Given the description of an element on the screen output the (x, y) to click on. 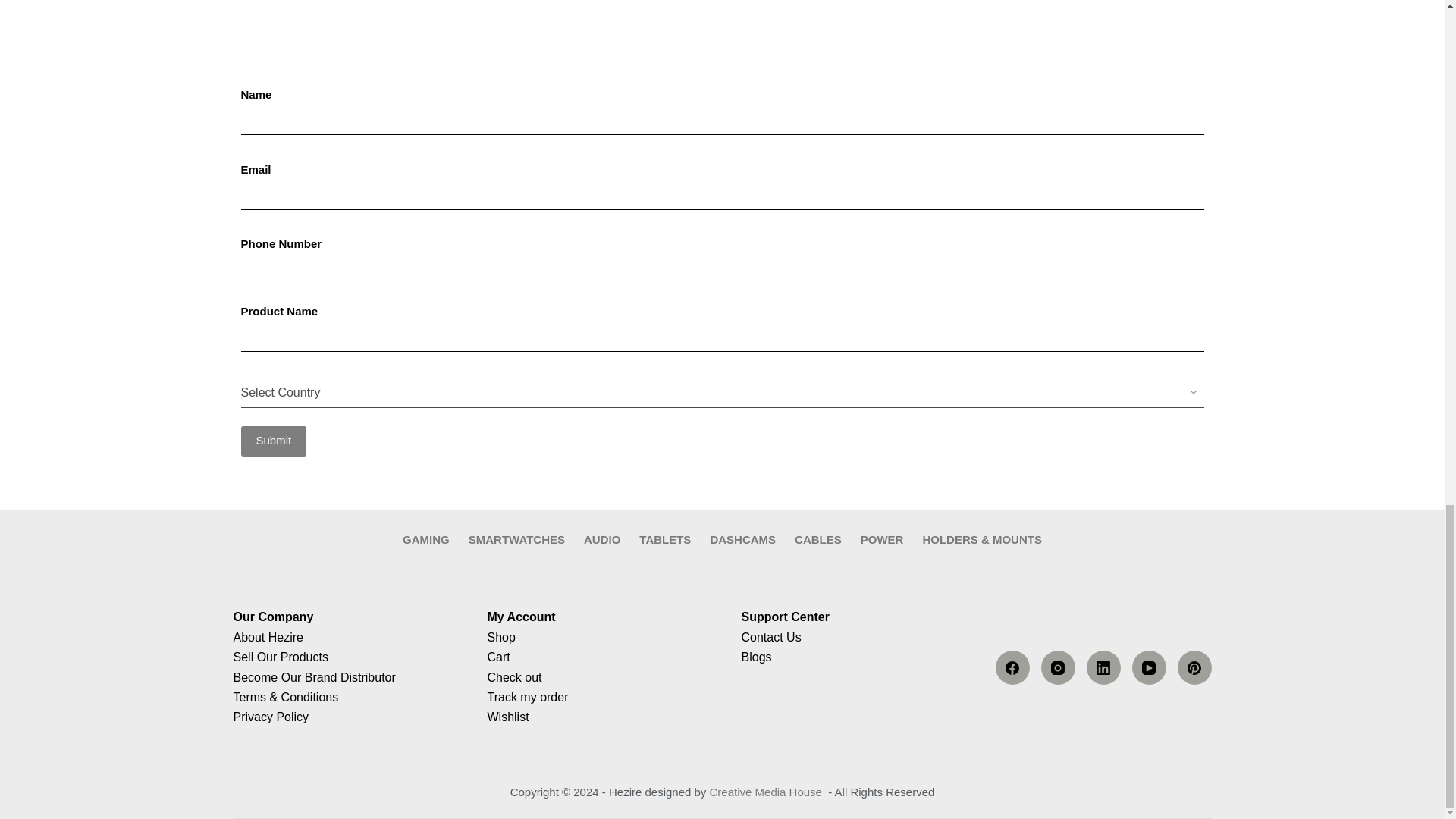
Submit (274, 440)
